Given the description of an element on the screen output the (x, y) to click on. 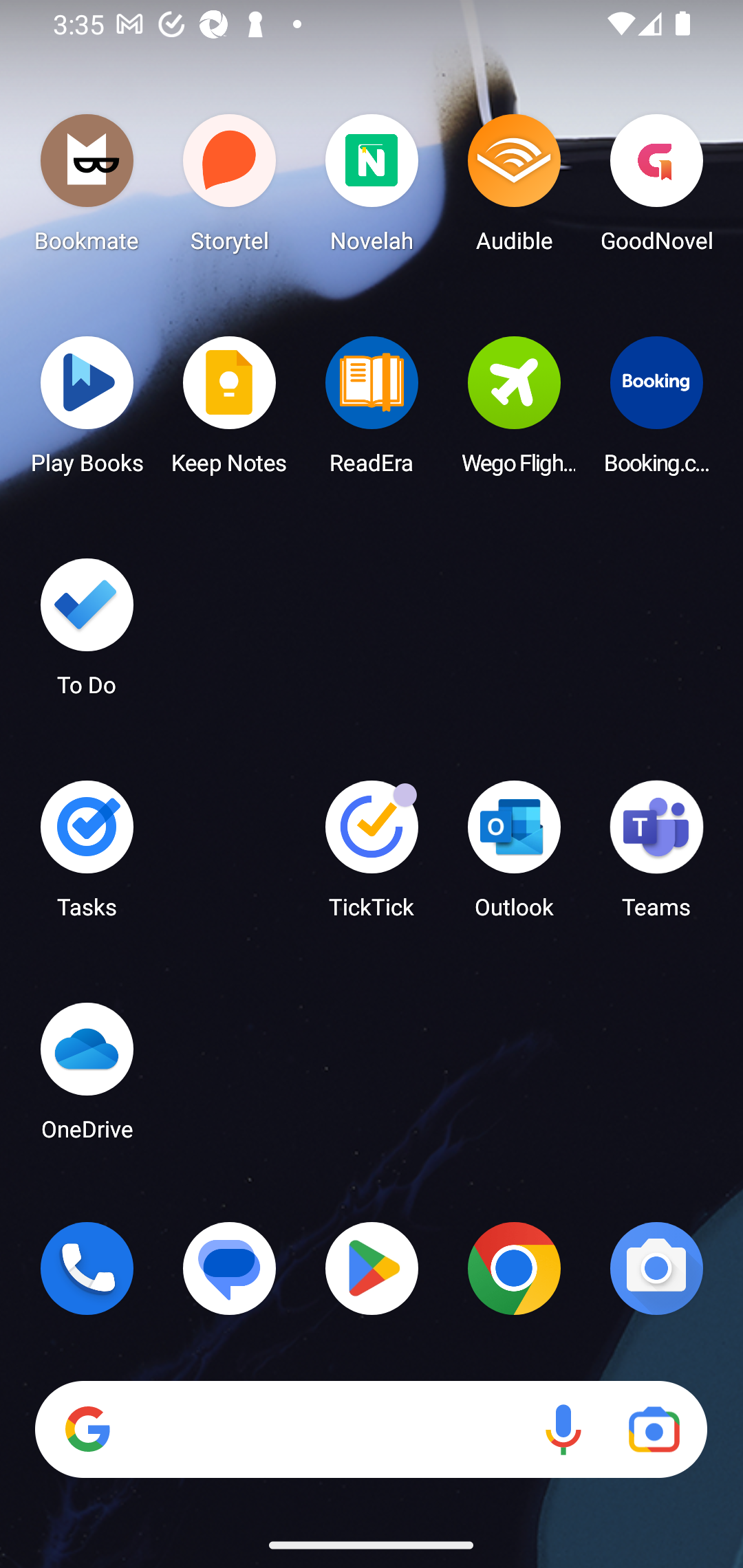
Bookmate (86, 188)
Storytel (229, 188)
Novelah (371, 188)
Audible (513, 188)
GoodNovel (656, 188)
Play Books (86, 410)
Keep Notes (229, 410)
ReadEra (371, 410)
Wego Flights & Hotels (513, 410)
Booking.com (656, 410)
To Do (86, 633)
Tasks (86, 854)
TickTick TickTick has 3 notifications (371, 854)
Outlook (513, 854)
Teams (656, 854)
OneDrive (86, 1076)
Phone (86, 1268)
Messages (229, 1268)
Play Store (371, 1268)
Chrome (513, 1268)
Camera (656, 1268)
Search Voice search Google Lens (370, 1429)
Voice search (562, 1429)
Google Lens (653, 1429)
